Given the description of an element on the screen output the (x, y) to click on. 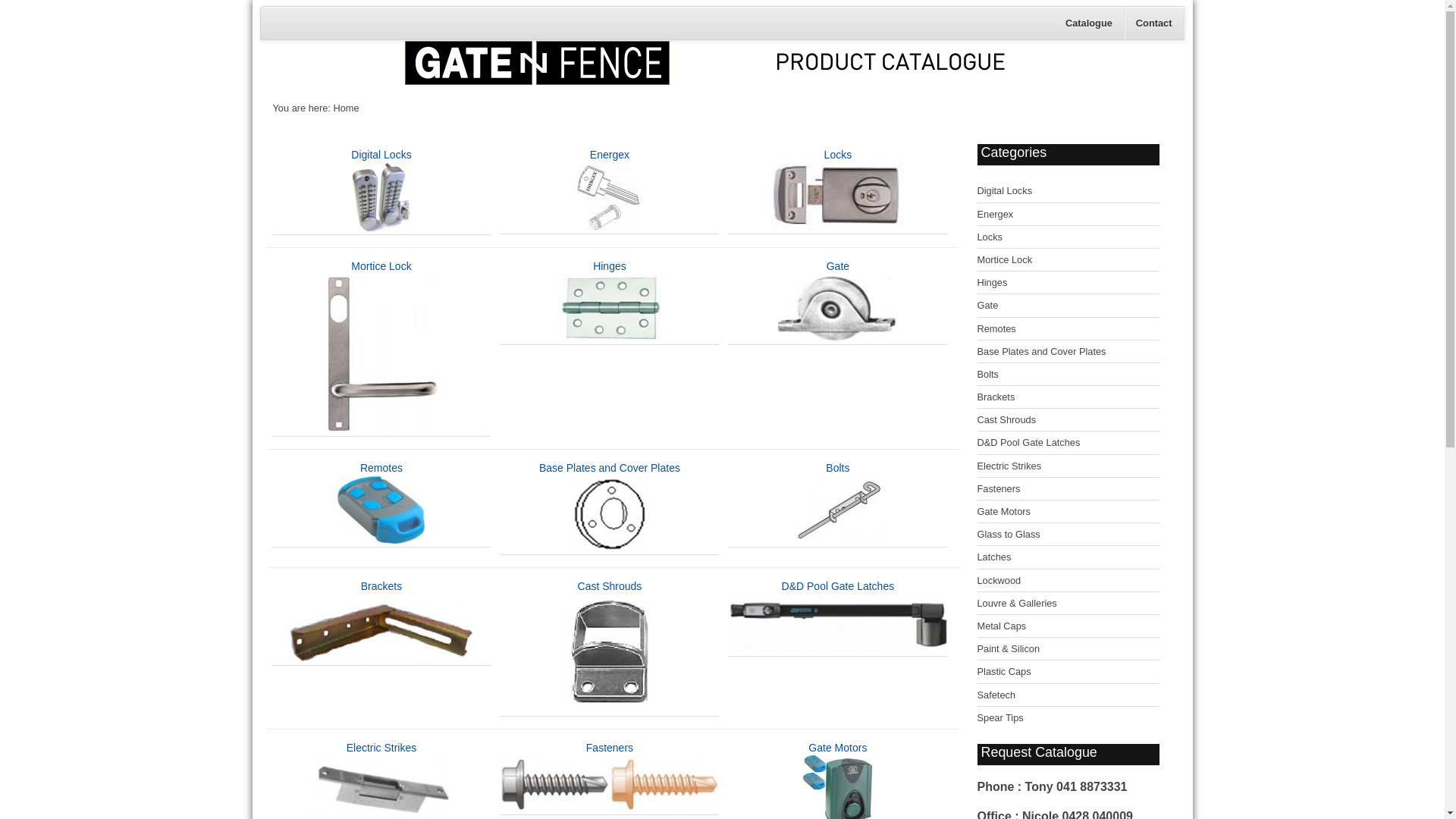
Spear Tips Element type: text (1067, 717)
Fasteners Element type: text (608, 777)
Remotes Element type: text (1067, 328)
Gate Element type: text (837, 302)
Hinges Element type: text (1067, 282)
Mortice Lock Element type: text (381, 348)
Paint & Silicon Element type: text (1067, 648)
Gate Motors Element type: text (1067, 511)
Electric Strikes Element type: text (1067, 466)
Bolts Element type: text (837, 503)
Base Plates and Cover Plates Element type: text (609, 507)
Cast Shrouds Element type: text (1067, 419)
Fasteners Element type: text (1067, 488)
Digital Locks Element type: text (381, 190)
Gate Element type: text (1067, 305)
Cast Shrouds Element type: text (609, 647)
Contact Element type: text (1154, 22)
Locks Element type: text (1067, 236)
Bolts Element type: text (1067, 374)
Hinges Element type: text (609, 302)
Energex Element type: text (1067, 214)
Plastic Caps Element type: text (1067, 671)
Catalogue Element type: text (1089, 22)
Metal Caps Element type: text (1067, 626)
Energex Element type: text (609, 190)
D&D Pool Gate Latches Element type: text (1067, 442)
Locks Element type: text (837, 190)
Glass to Glass Element type: text (1067, 534)
Louvre & Galleries Element type: text (1067, 603)
D&D Pool Gate Latches Element type: text (837, 617)
Digital Locks Element type: text (1067, 190)
Base Plates and Cover Plates Element type: text (1067, 351)
Latches Element type: text (1067, 557)
Brackets Element type: text (1067, 396)
Safetech Element type: text (1067, 695)
Remotes Element type: text (380, 503)
Brackets Element type: text (380, 622)
Lockwood Element type: text (1067, 580)
Mortice Lock Element type: text (1067, 259)
